Given the description of an element on the screen output the (x, y) to click on. 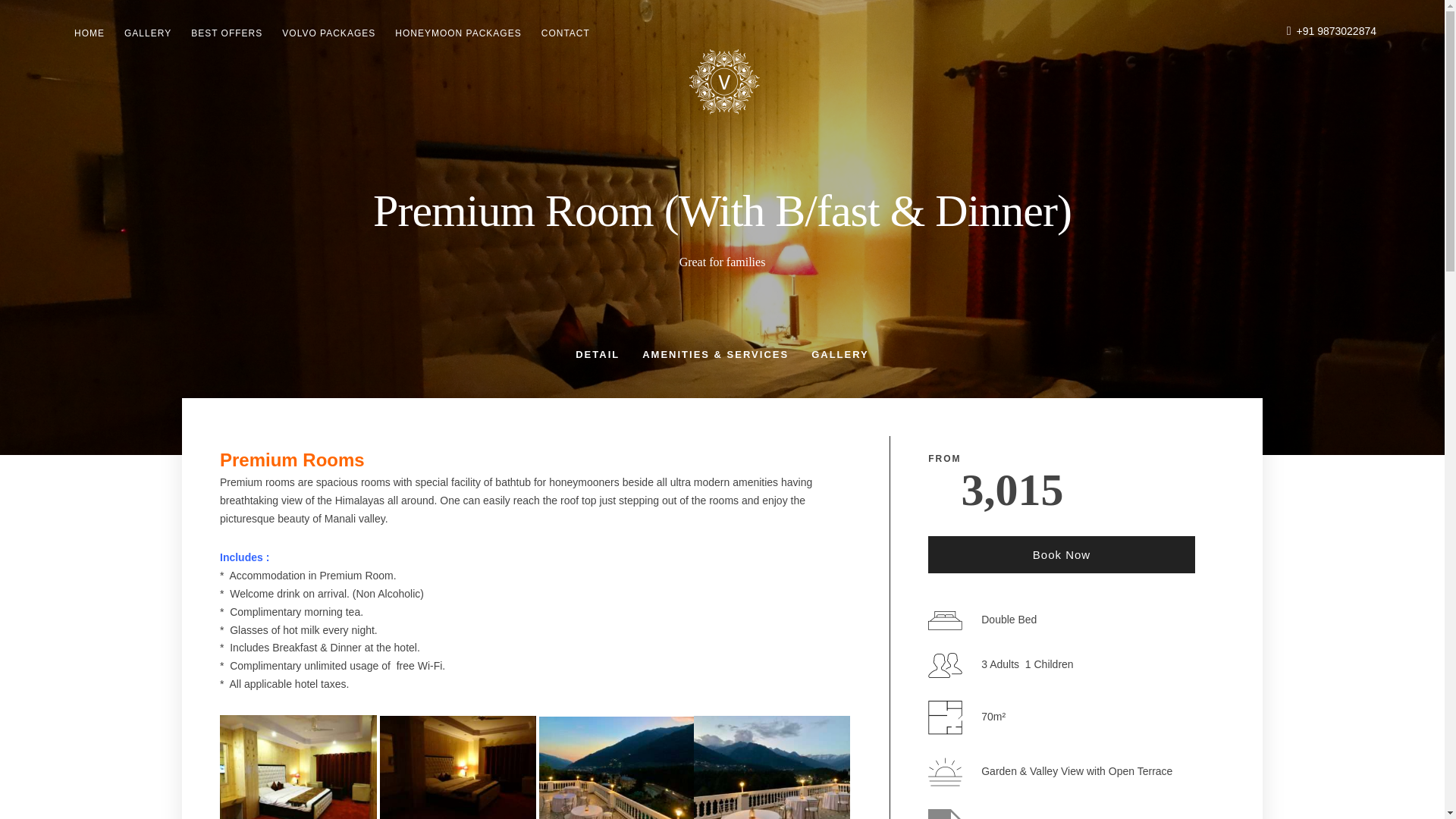
Check Availability (1061, 752)
GALLERY (839, 354)
GALLERY (147, 33)
Book Now (1061, 554)
HOME (89, 33)
Call Us (1337, 30)
DETAIL (597, 354)
CONTACT (565, 33)
BEST OFFERS (226, 33)
VOLVO PACKAGES (328, 33)
